Given the description of an element on the screen output the (x, y) to click on. 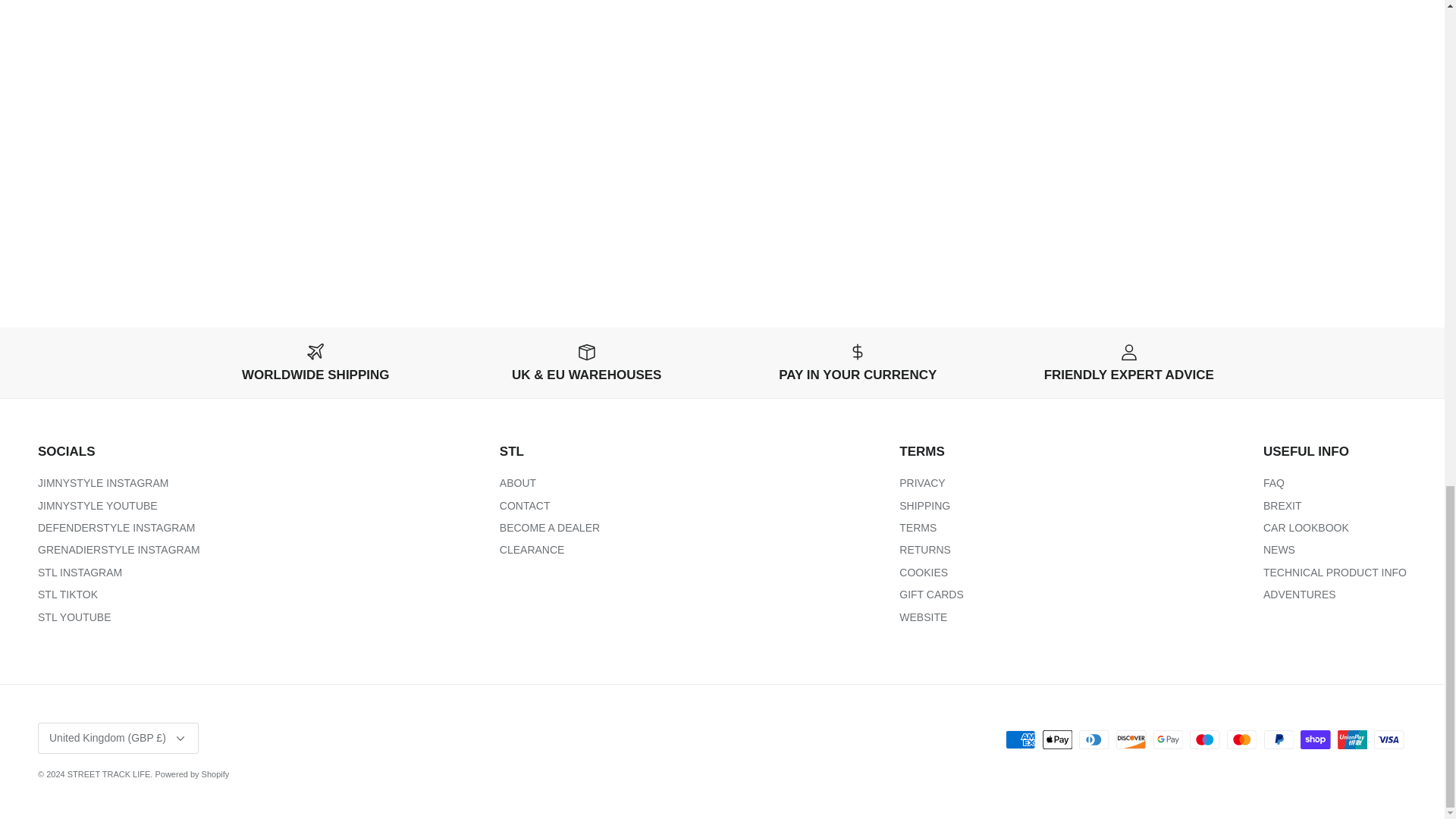
Diners Club (1093, 739)
American Express (1020, 739)
Apple Pay (1057, 739)
